Given the description of an element on the screen output the (x, y) to click on. 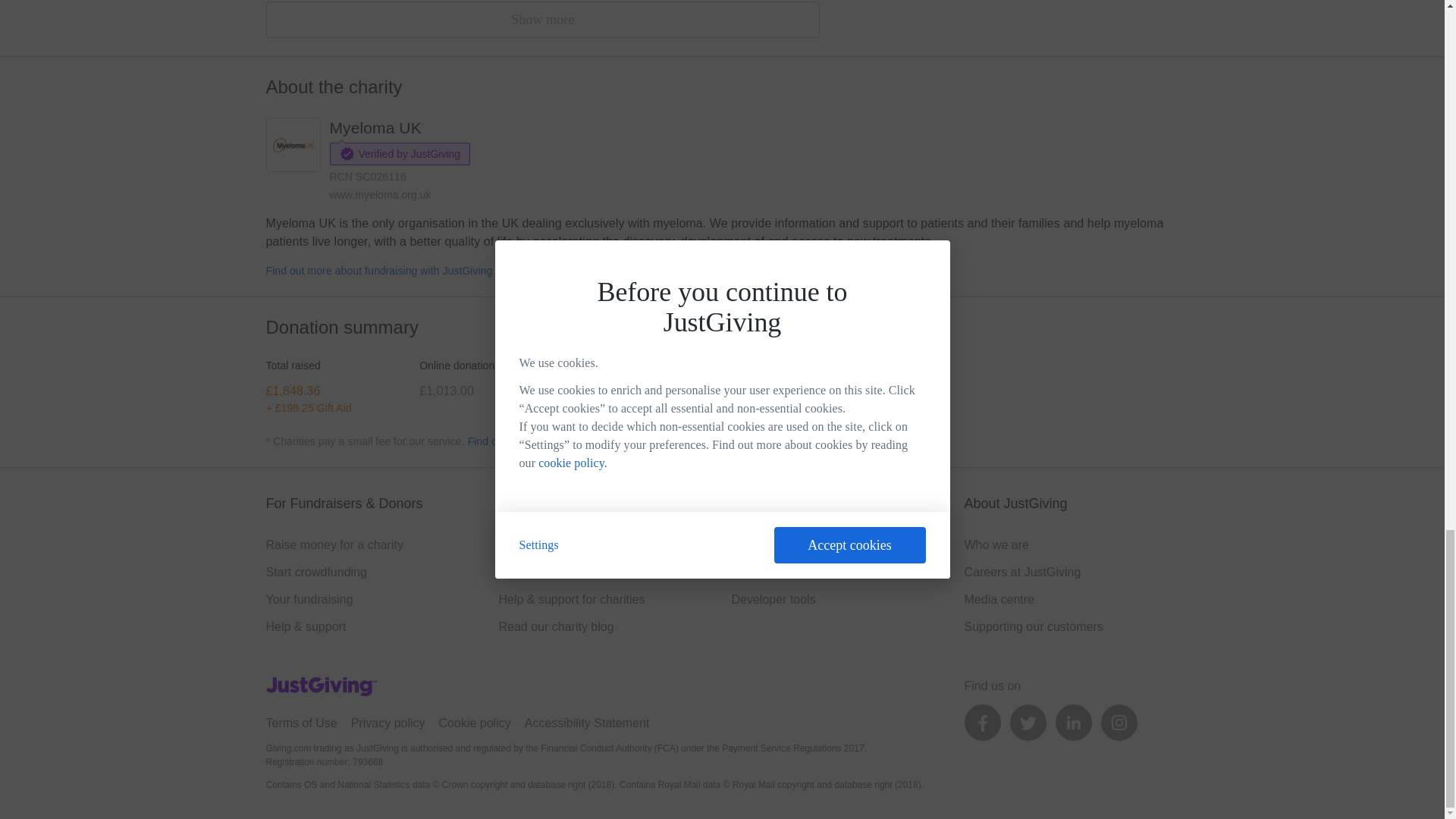
www.myeloma.org.uk (379, 194)
Myeloma UK (374, 127)
Find out more about fundraising with JustGiving (378, 270)
Show more (541, 19)
